Given the description of an element on the screen output the (x, y) to click on. 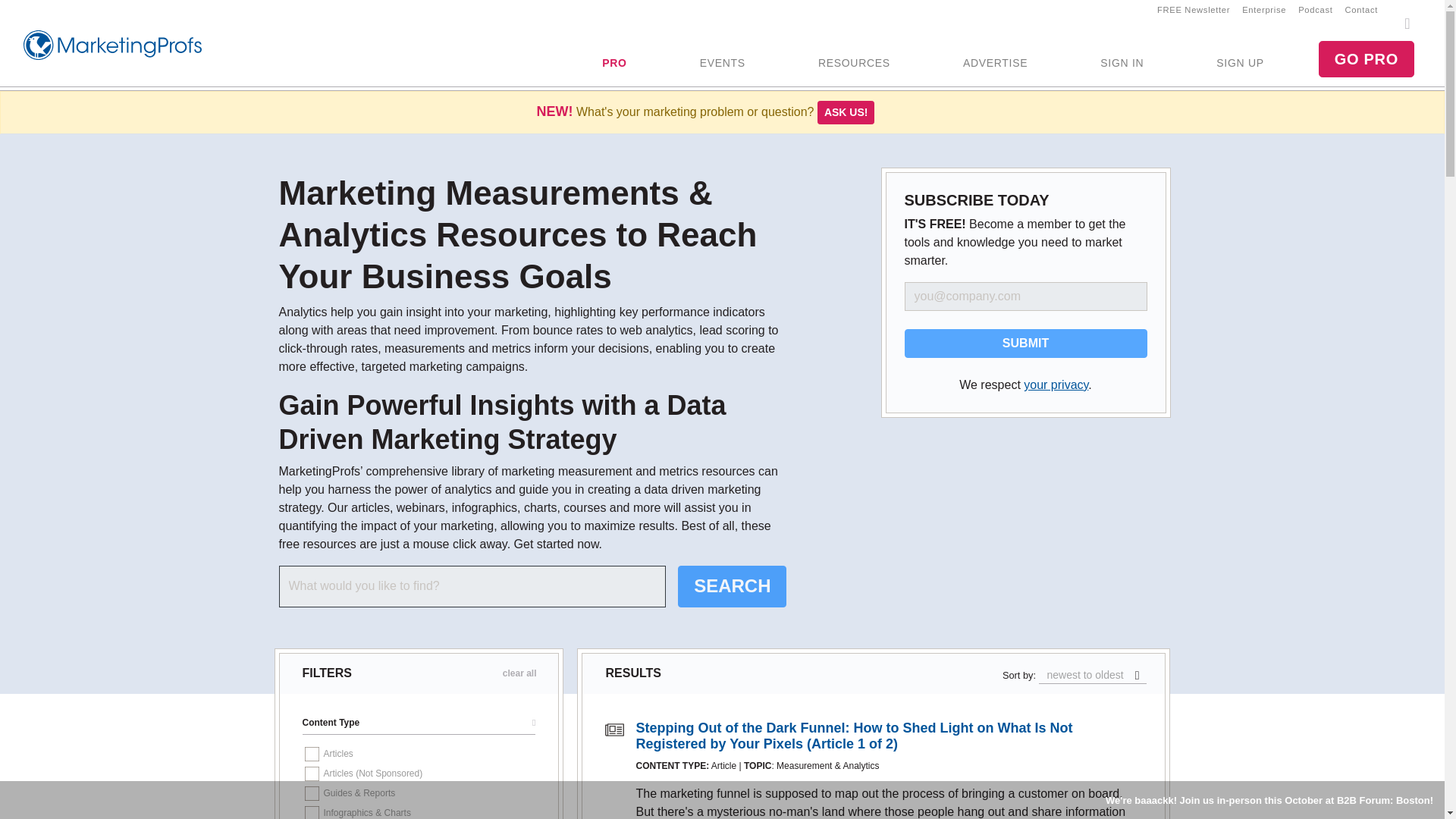
Podcast (1315, 9)
PRO (614, 62)
EVENTS (721, 62)
Contact (1361, 9)
Enterprise (1264, 9)
FREE Newsletter (1193, 9)
RESOURCES (853, 62)
